Given the description of an element on the screen output the (x, y) to click on. 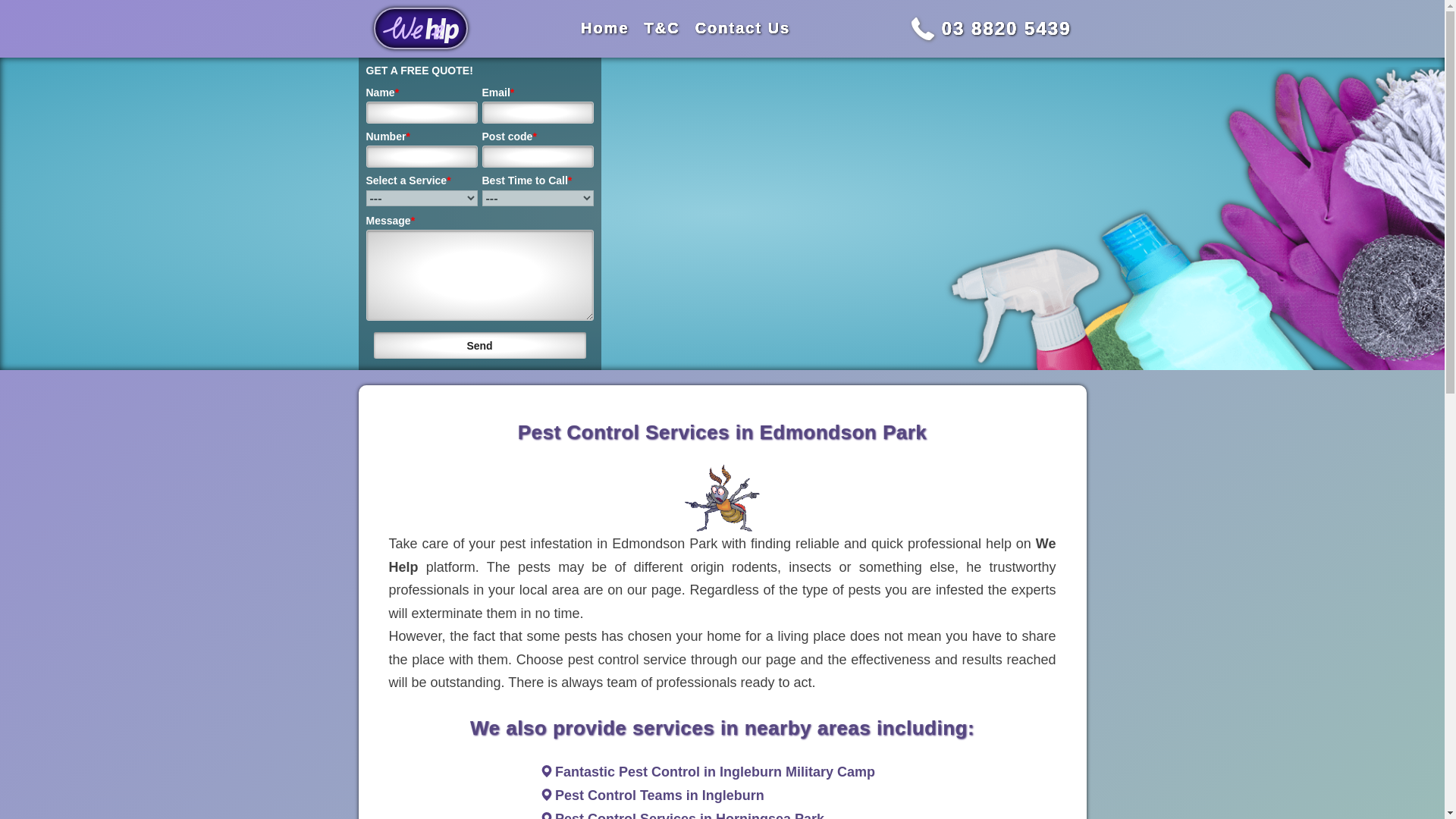
Pest Control Teams in Ingleburn (659, 795)
Pest Control Services in Horningsea Park (689, 815)
Send (478, 345)
Send (478, 345)
Contact Us (742, 28)
03 8820 5439 (1006, 28)
Pest Control Services in Horningsea Park (689, 815)
Home (604, 28)
Pest Control (722, 498)
Pest Control Teams in Ingleburn (659, 795)
Fantastic Pest Control in Ingleburn Military Camp (714, 771)
Fantastic Pest Control in Ingleburn Military Camp (714, 771)
